Given the description of an element on the screen output the (x, y) to click on. 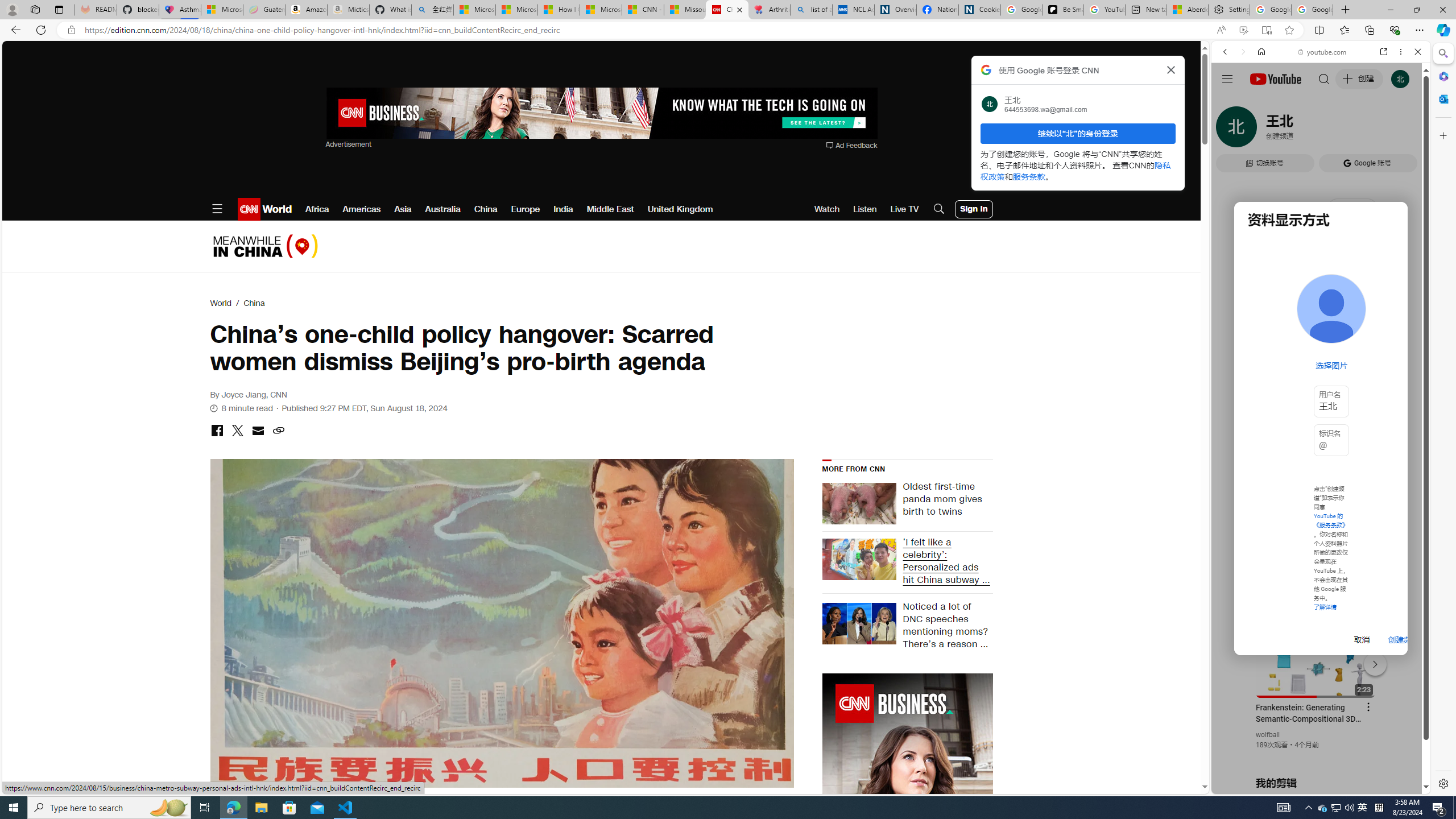
CNN logo (248, 209)
Enter Immersive Reader (F9) (1266, 29)
Asia (403, 209)
Search Filter, WEB (1230, 129)
Class: b_serphb (1404, 130)
YouTube - YouTube (1315, 560)
Class: icon-ui-link (277, 430)
Europe (525, 209)
User Account Log In Button (973, 208)
